Given the description of an element on the screen output the (x, y) to click on. 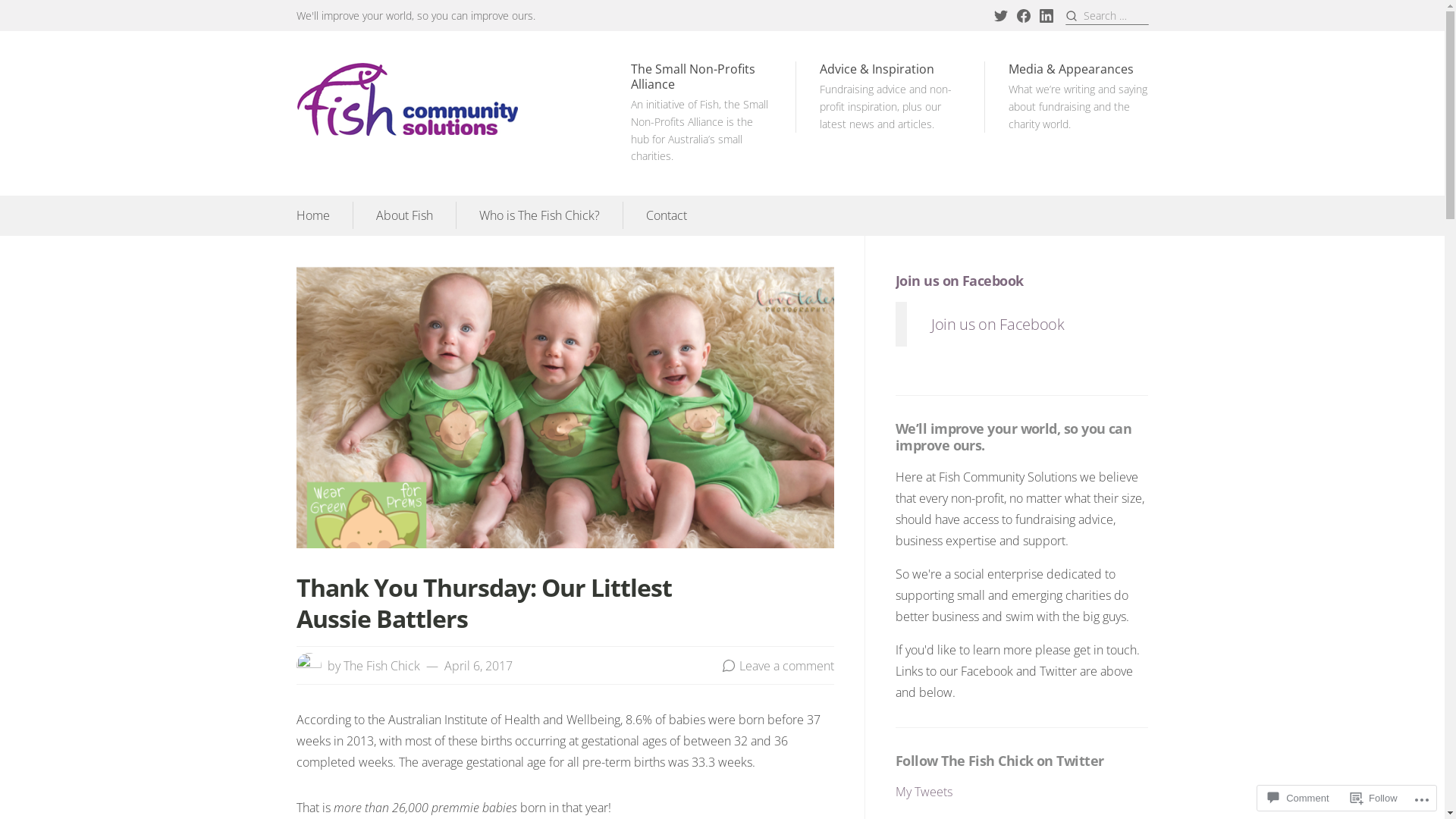
My Tweets Element type: text (923, 791)
Follow Element type: text (1373, 797)
Home Element type: text (312, 215)
Contact Element type: text (666, 215)
Leave a comment Element type: text (786, 665)
Join us on Facebook Element type: text (997, 322)
Comment Element type: text (1297, 797)
About Fish Element type: text (404, 215)
The Fish Chick Element type: text (380, 665)
Who is The Fish Chick? Element type: text (539, 215)
Join us on Facebook Element type: text (959, 280)
